Given the description of an element on the screen output the (x, y) to click on. 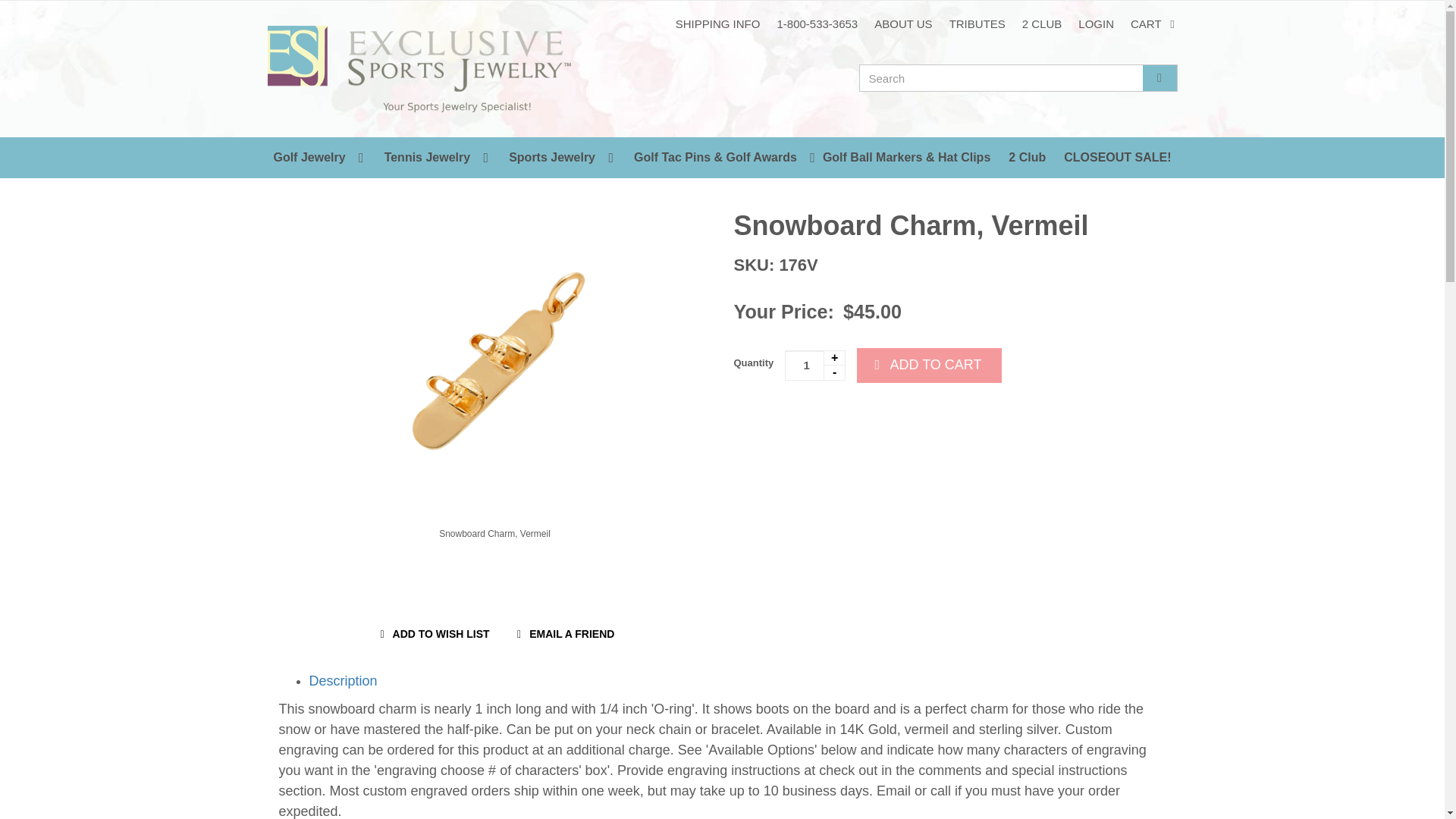
Tennis Jewelry (431, 157)
LOGIN (1096, 24)
Snowboard Charm, Vermeil  (495, 359)
Snowboard Charm, Vermeil  (495, 533)
1-800-533-3653 (817, 24)
ABOUT US (903, 24)
2 CLUB (1041, 24)
Golf Jewelry (312, 157)
1 (814, 365)
CART (1155, 24)
Sports Jewelry (555, 157)
SHIPPING INFO (717, 24)
TRIBUTES (976, 24)
